Given the description of an element on the screen output the (x, y) to click on. 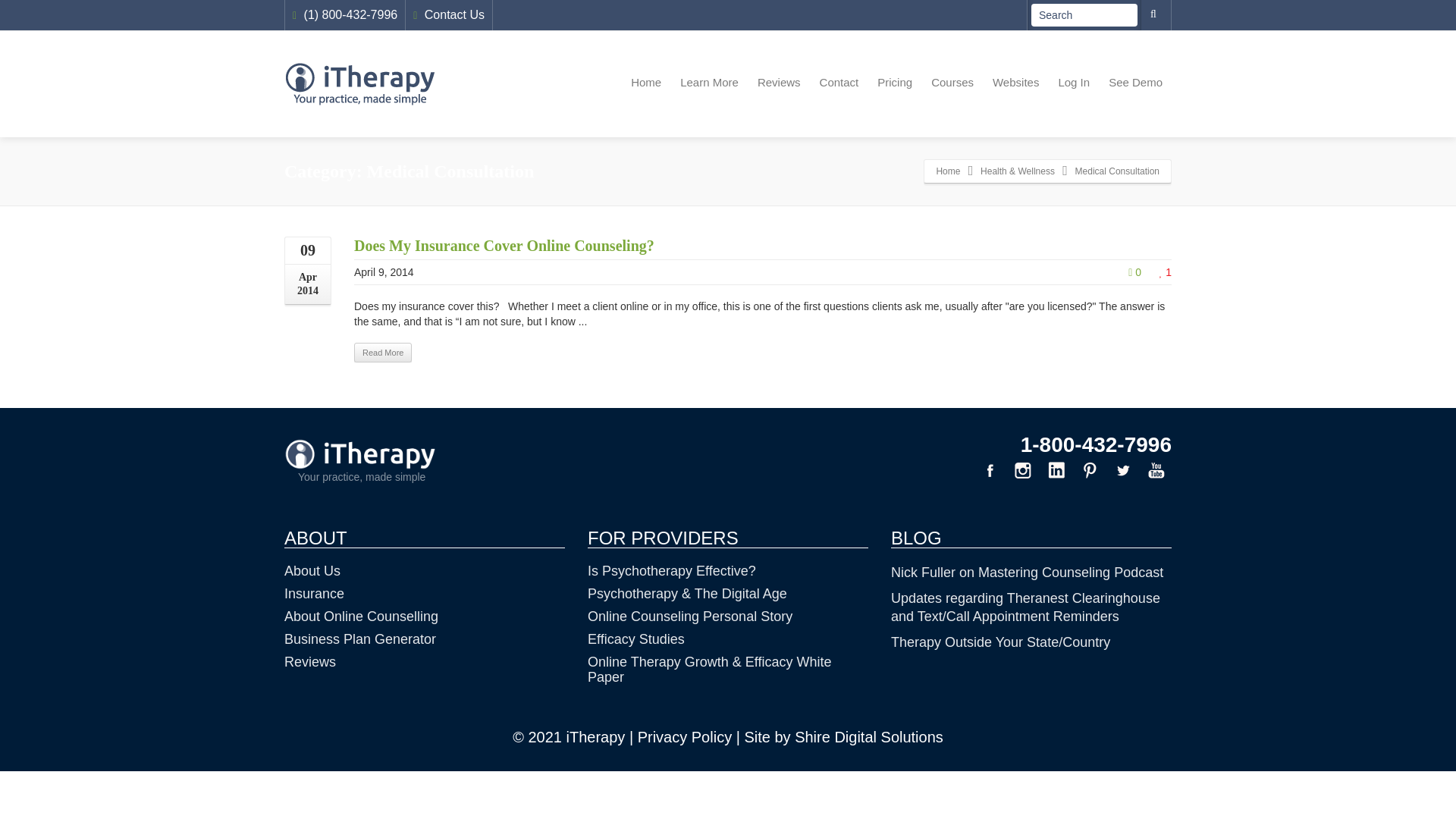
Insurance (313, 593)
About Us (311, 570)
Reviews (309, 661)
Continue reading this entry (382, 352)
Nick Fuller on Mastering Counseling Podcast (1027, 572)
iTherapy, LLC (947, 171)
1 (1165, 272)
Read More (382, 352)
About Online Counselling (360, 616)
Contact (838, 83)
Home (947, 171)
1-800-432-7996 (1096, 444)
See Demo (1135, 83)
0 (1134, 272)
Home (645, 83)
